Given the description of an element on the screen output the (x, y) to click on. 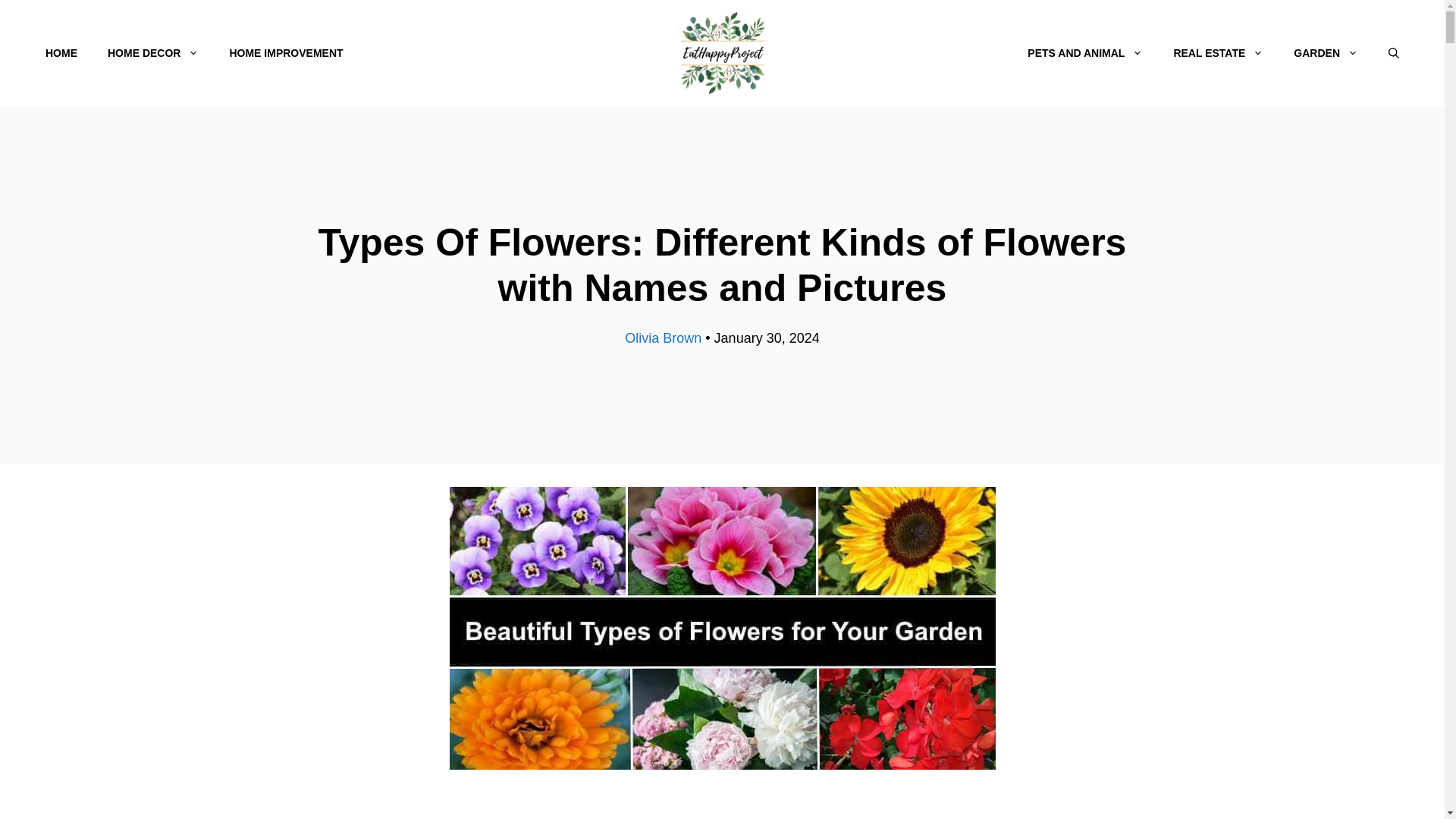
HOME IMPROVEMENT (286, 53)
HOME DECOR (153, 53)
View all posts by Olivia Brown (662, 337)
GARDEN (1325, 53)
MENU ITEM SEPARATOR (685, 53)
PETS AND ANIMAL (1084, 53)
HOME (61, 53)
REAL ESTATE (1217, 53)
